Given the description of an element on the screen output the (x, y) to click on. 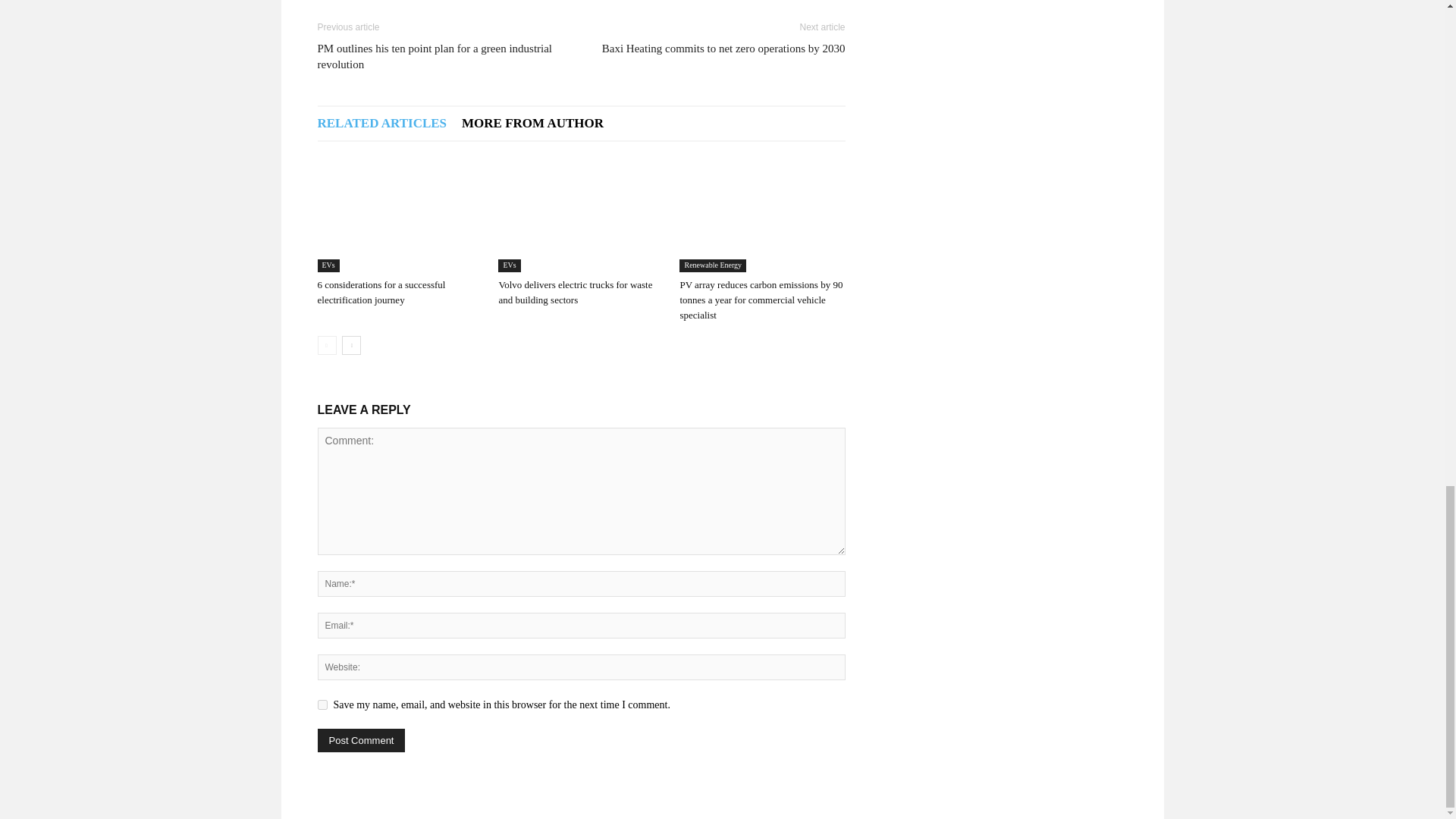
yes (321, 705)
6 considerations for a successful electrification journey (399, 214)
Post Comment (360, 740)
